Given the description of an element on the screen output the (x, y) to click on. 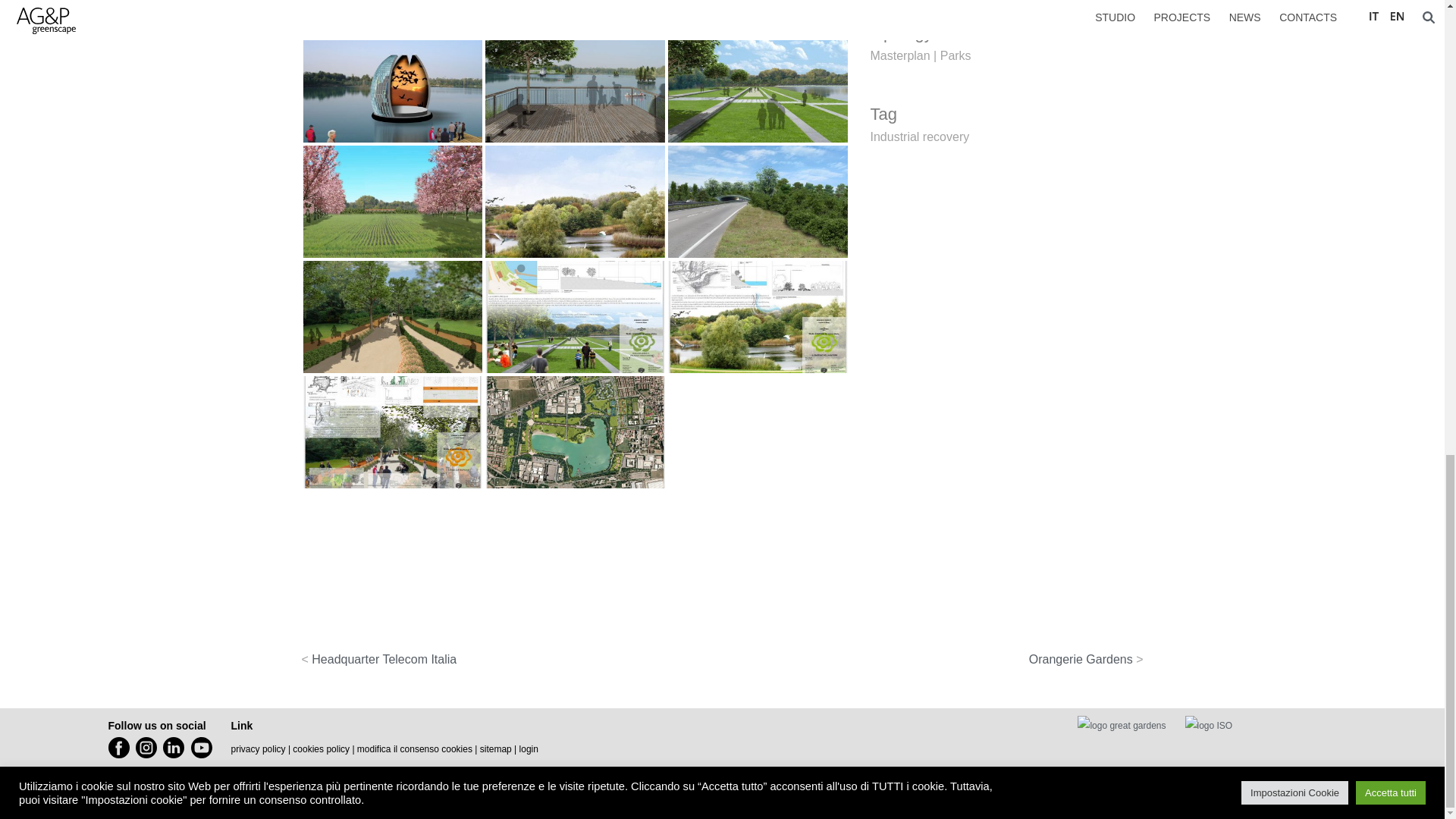
instagram (146, 747)
cookies policy (320, 748)
instagram (149, 748)
linkedin (176, 748)
Headquarter Telecom Italia (384, 658)
linkedin (173, 747)
facebook (118, 747)
Orangerie Gardens (1080, 658)
privacy policy (258, 748)
Masterplan (900, 55)
modifica il consenso cookies (413, 748)
sitemap (496, 748)
Parks (955, 55)
Industrial recovery (919, 135)
login (528, 748)
